Given the description of an element on the screen output the (x, y) to click on. 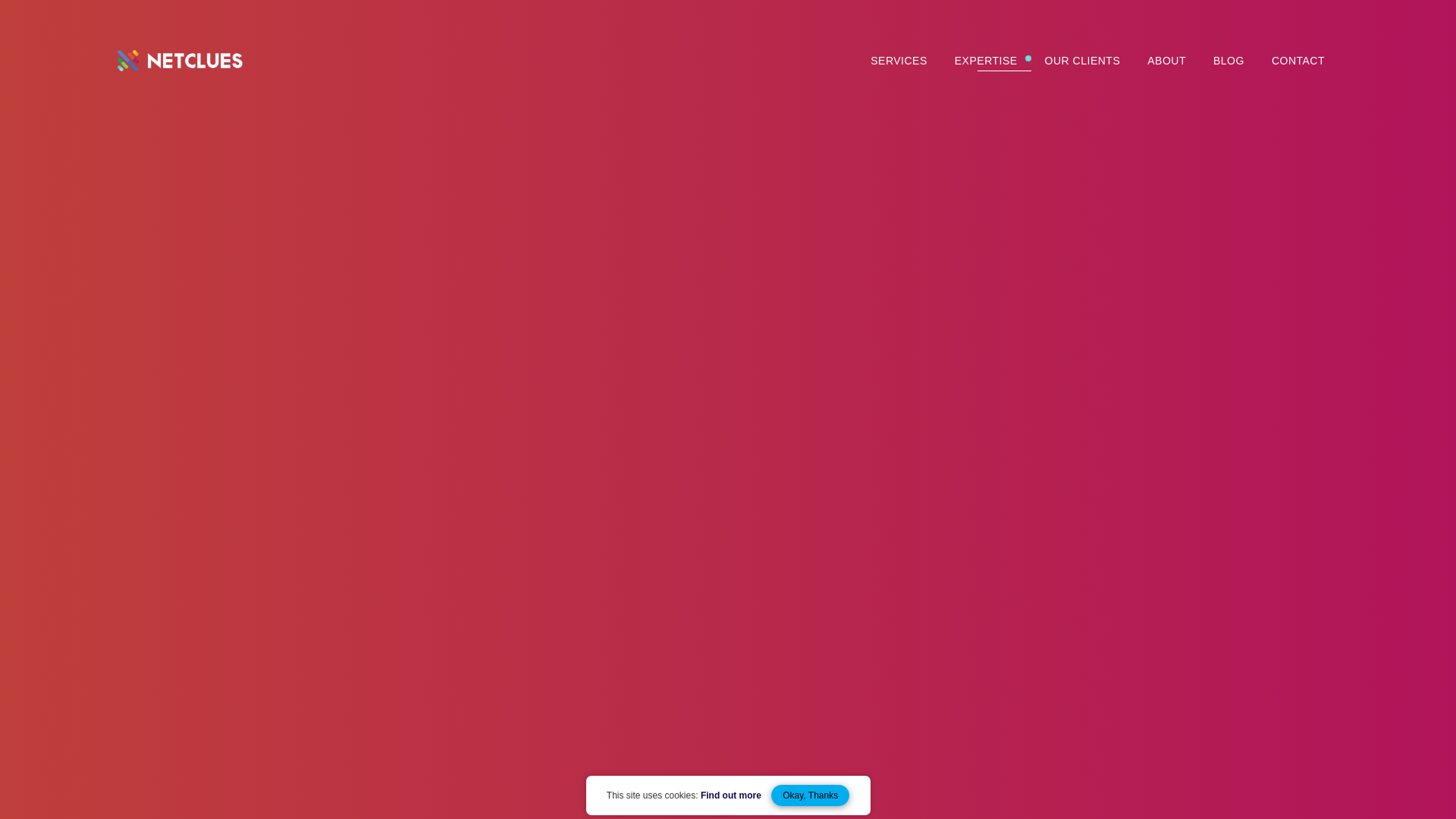
Services (898, 60)
SERVICES (898, 60)
Netclues (180, 66)
